Given the description of an element on the screen output the (x, y) to click on. 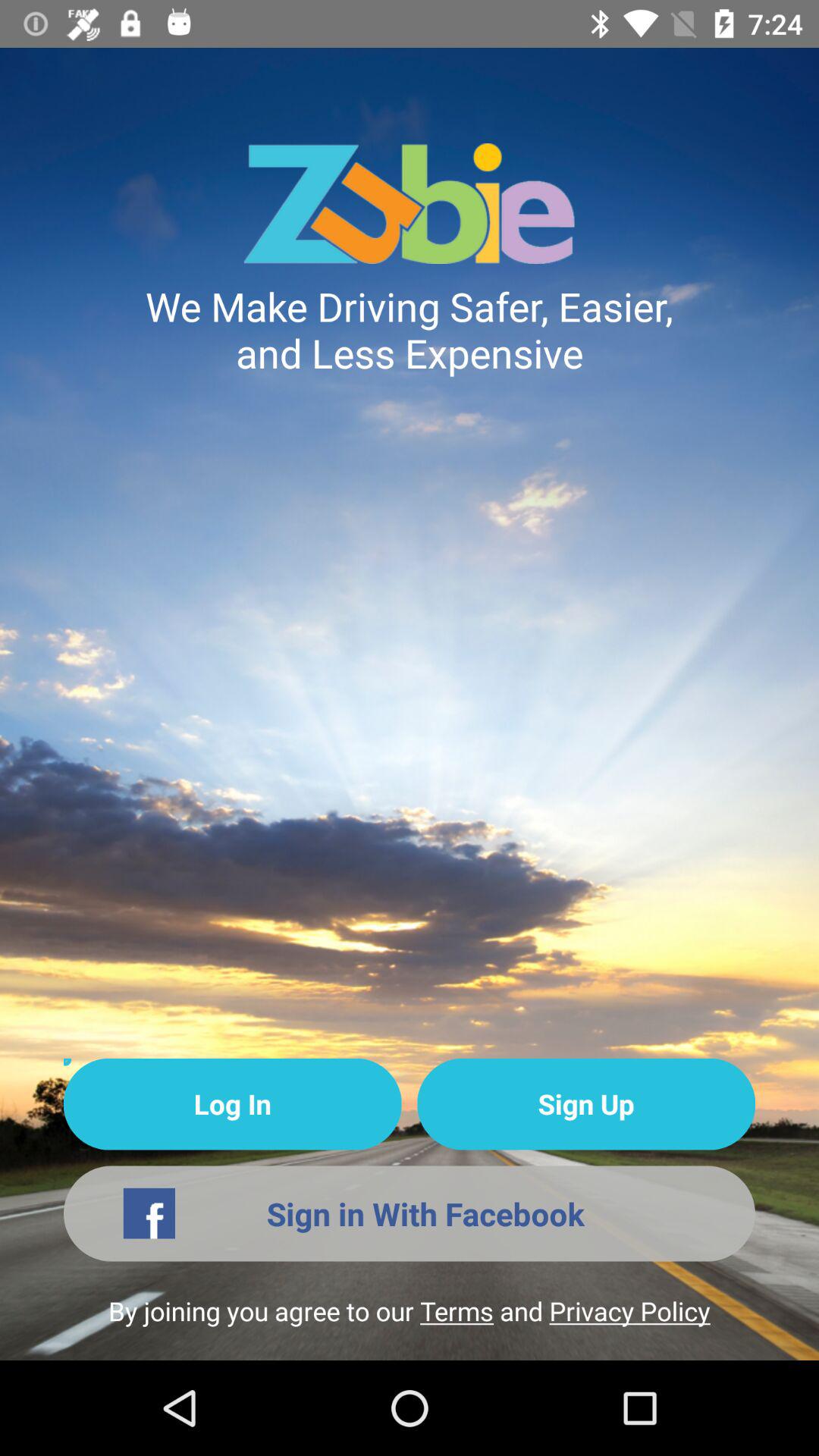
scroll until sign in with icon (409, 1213)
